Given the description of an element on the screen output the (x, y) to click on. 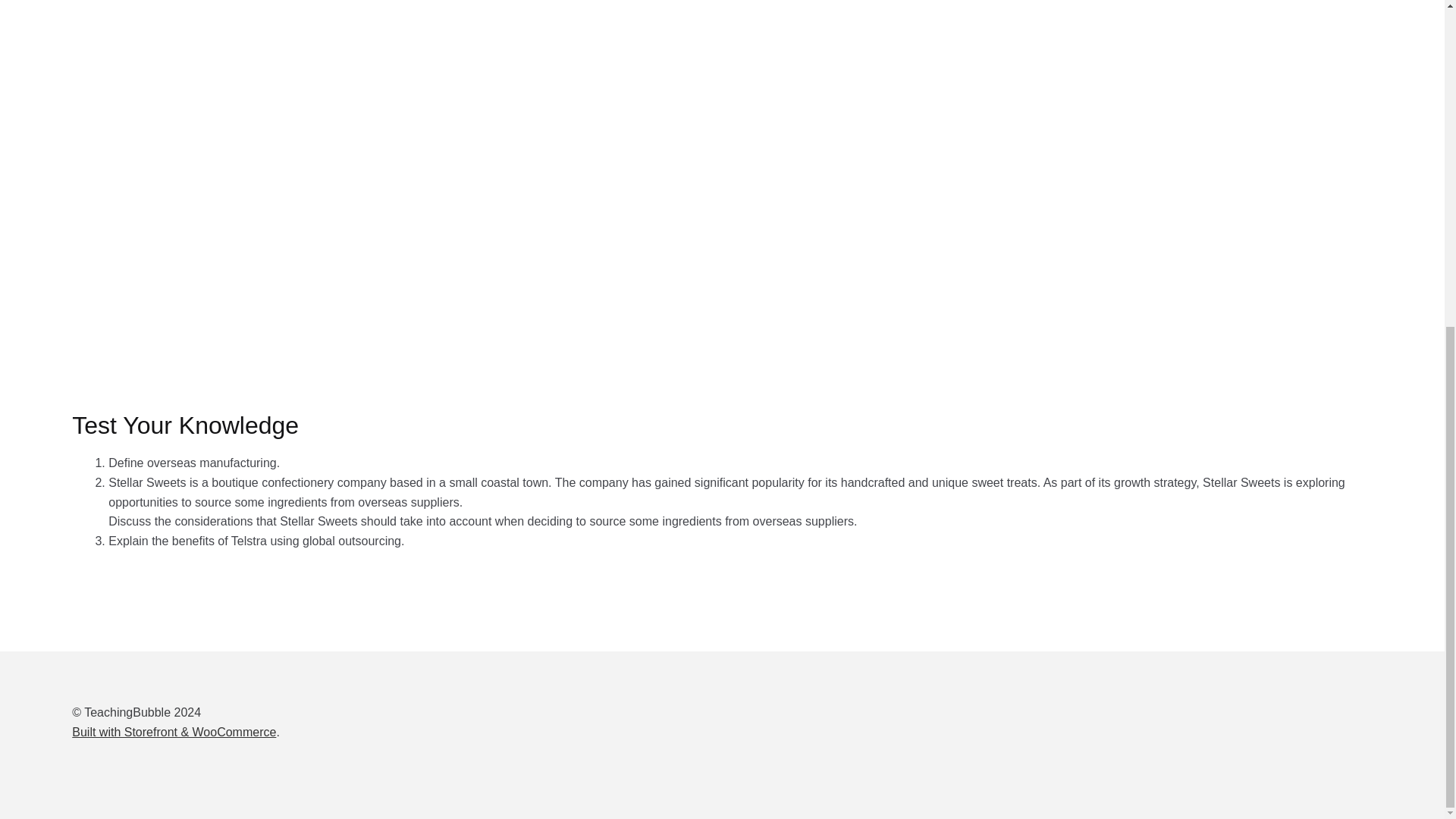
WooCommerce - The Best eCommerce Platform for WordPress (173, 731)
